Given the description of an element on the screen output the (x, y) to click on. 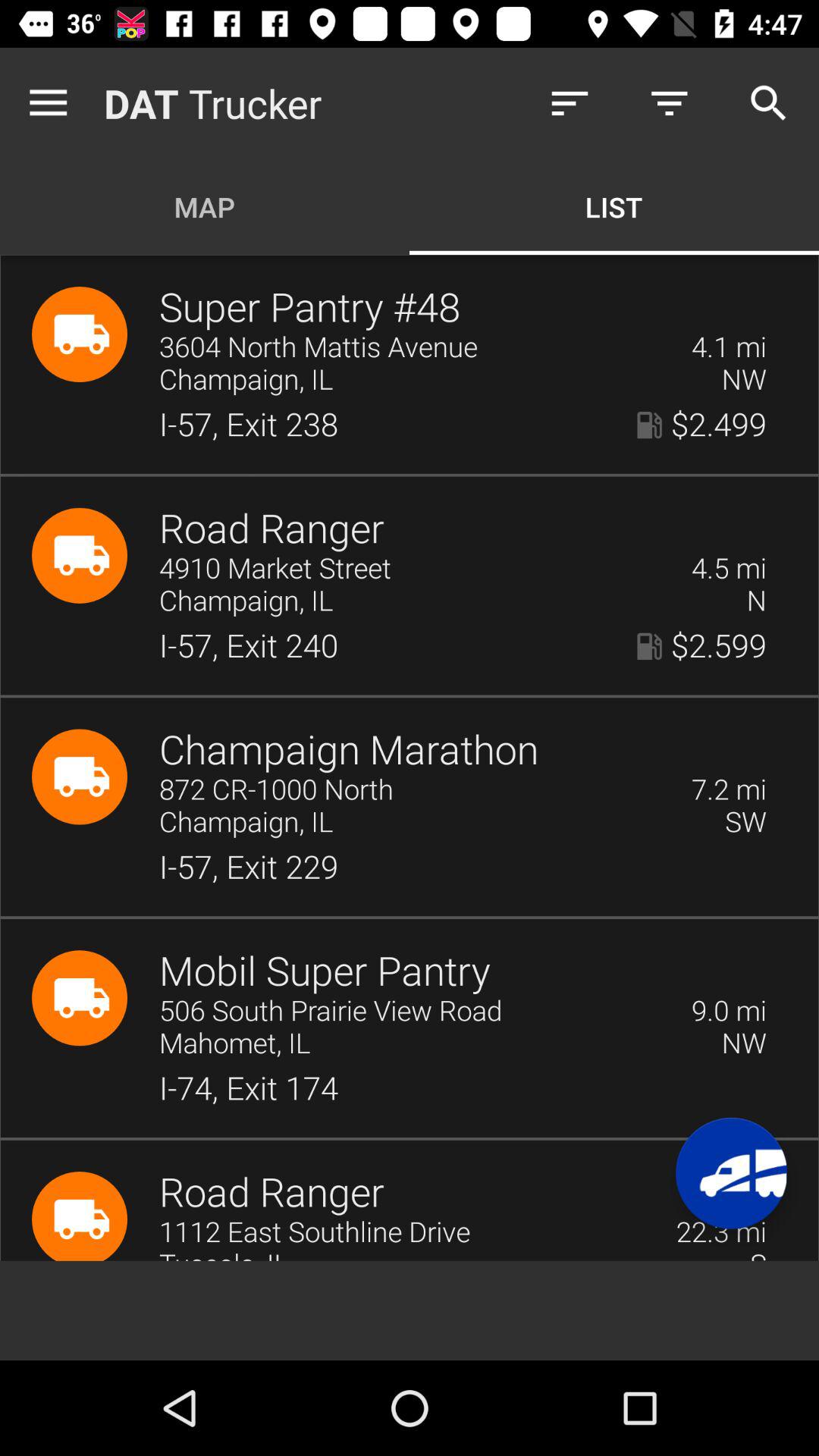
turn off 1112 east southline item (407, 1232)
